Given the description of an element on the screen output the (x, y) to click on. 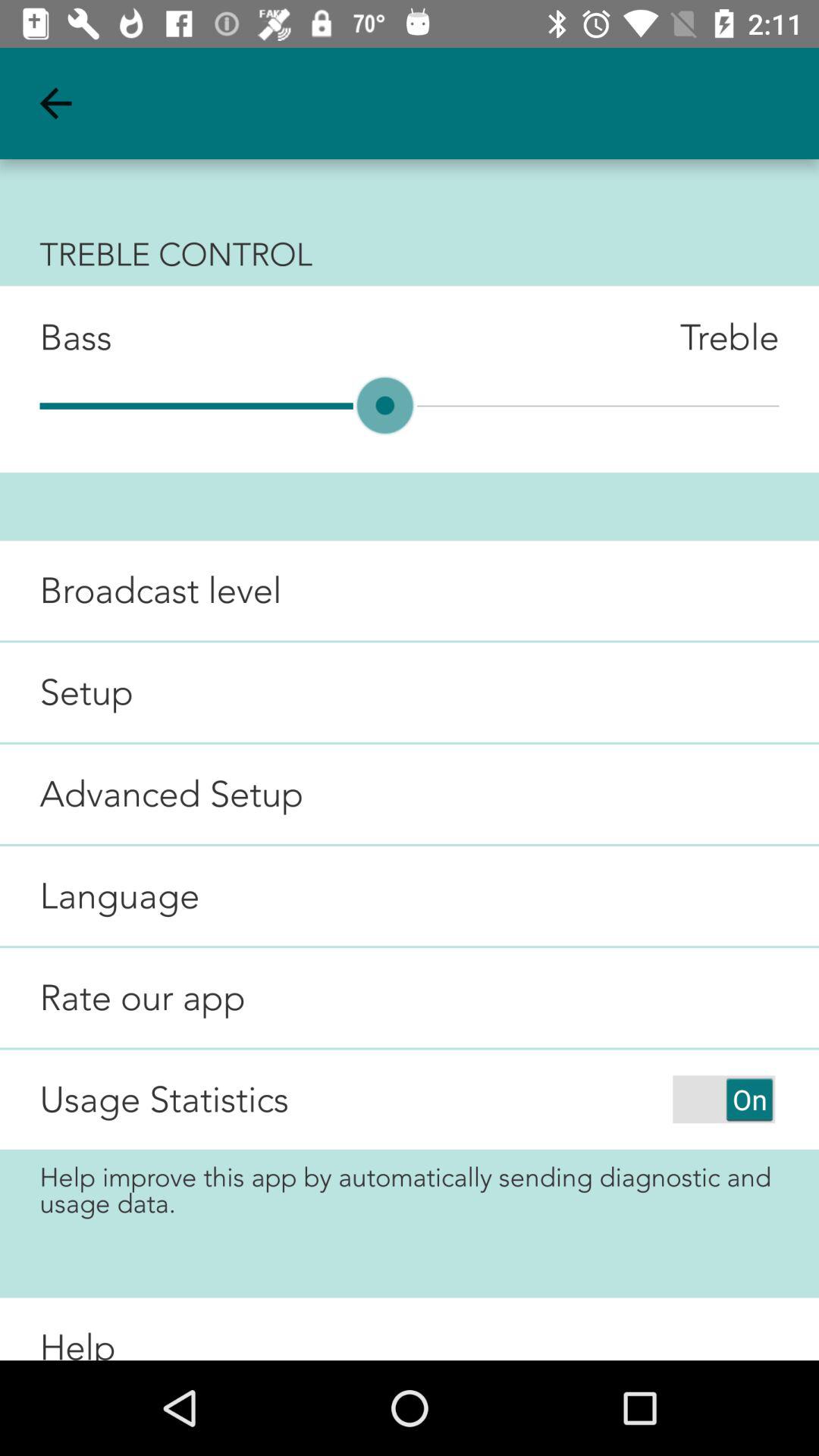
turn off rate our app item (122, 997)
